Given the description of an element on the screen output the (x, y) to click on. 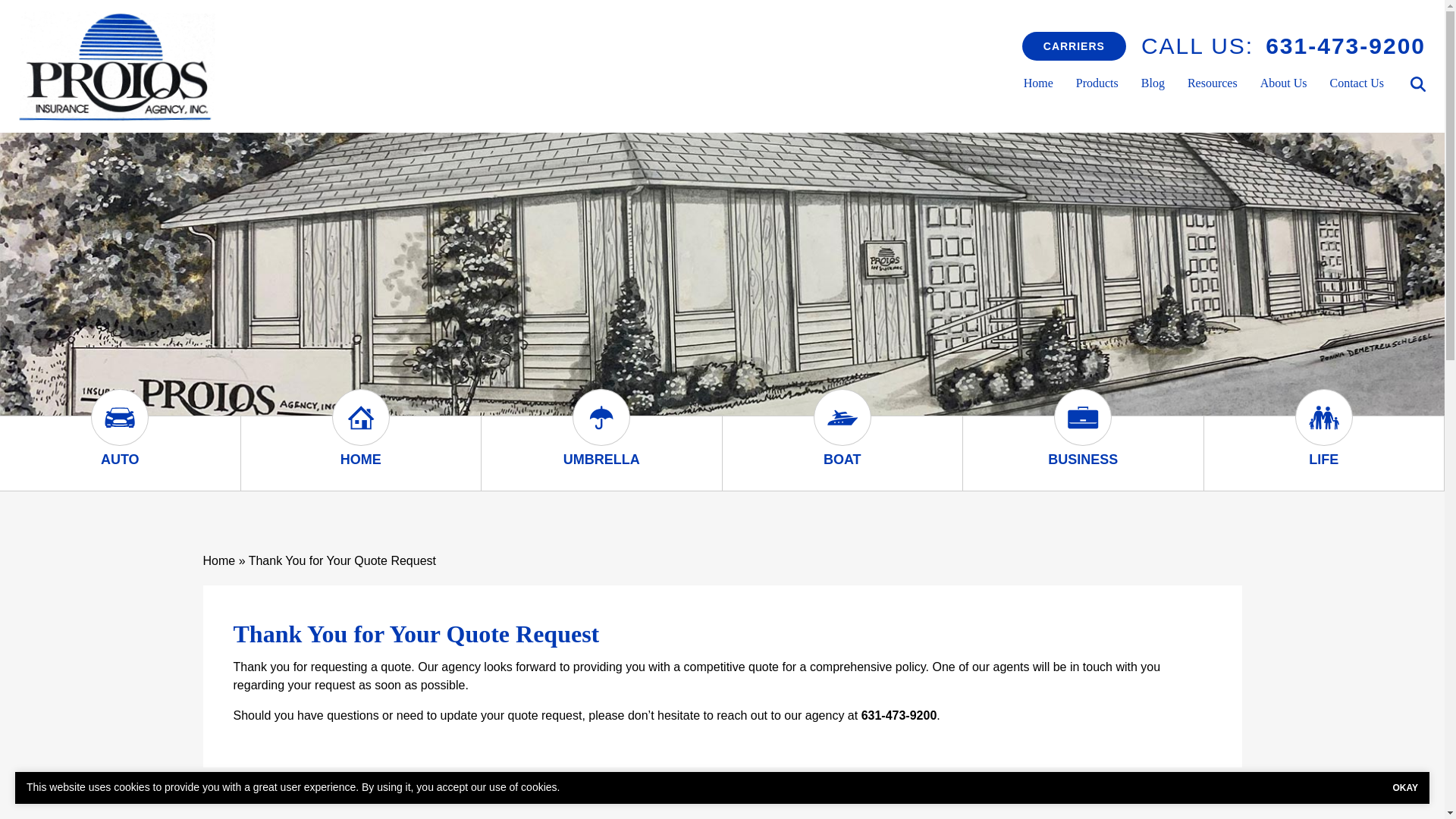
UMBRELLA (601, 459)
CARRIERS (1073, 45)
About Us (1284, 83)
Auto Icon (119, 430)
Home Icon (360, 430)
Blog (1152, 83)
631-473-9200 (1345, 45)
HOME (360, 459)
Umbrella Icon (601, 430)
Home (1037, 83)
Products (1096, 83)
AUTO (120, 459)
Contact Us (1355, 83)
BOAT (842, 459)
Boat Icon (841, 430)
